Given the description of an element on the screen output the (x, y) to click on. 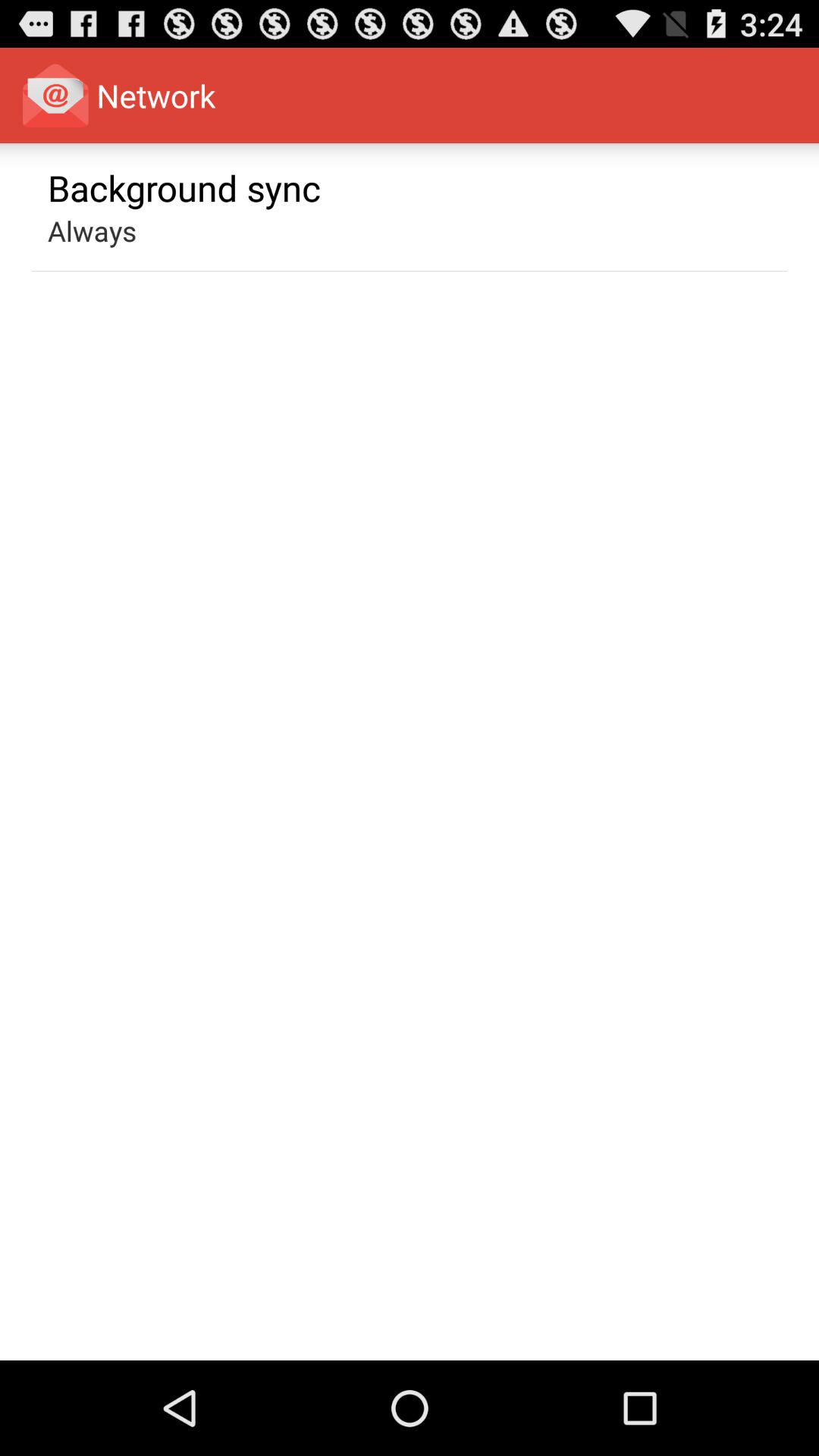
jump until the background sync item (183, 187)
